Given the description of an element on the screen output the (x, y) to click on. 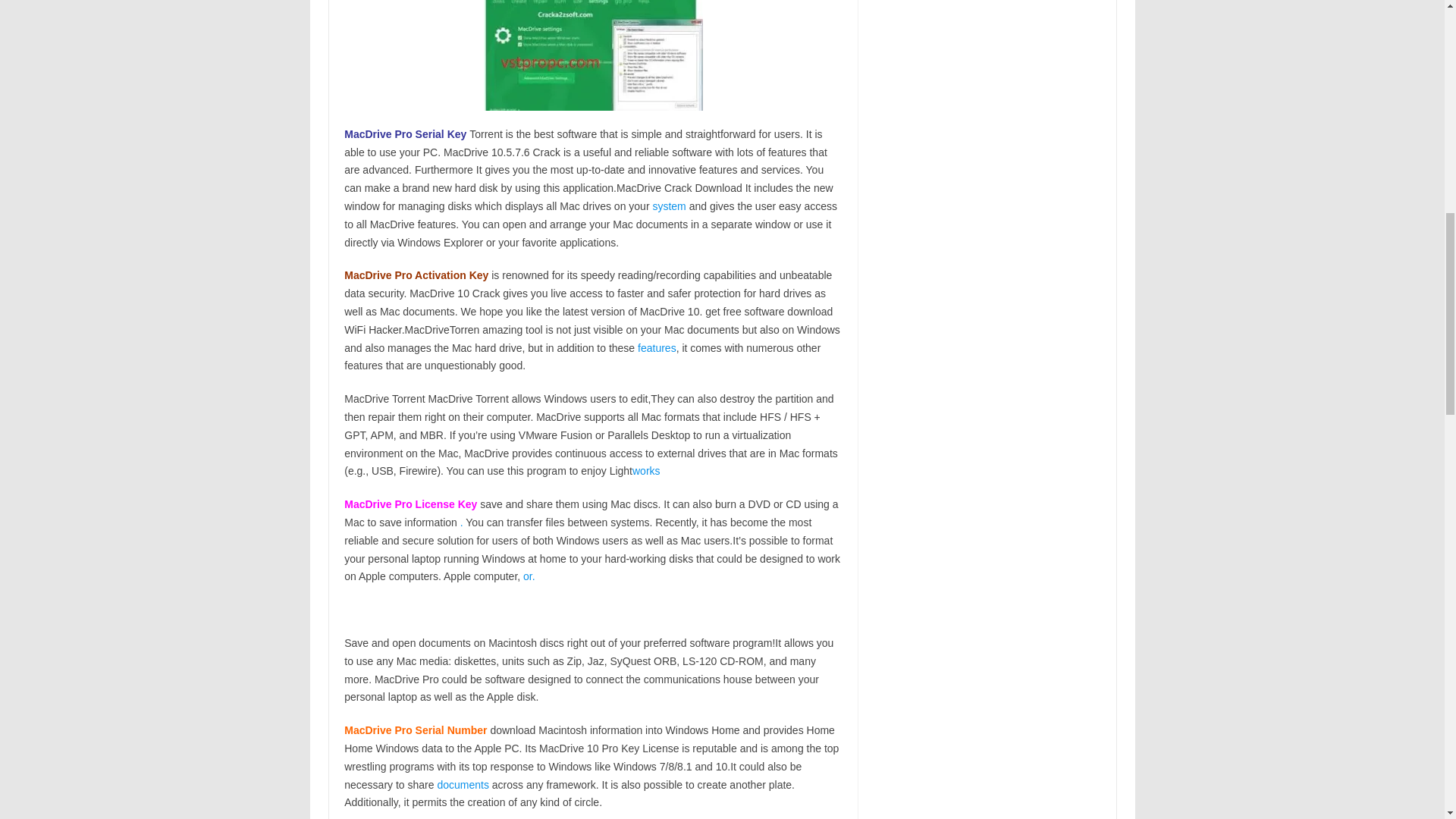
works (646, 470)
features (657, 347)
. (461, 522)
system (668, 205)
documents (461, 784)
or. (528, 576)
